Given the description of an element on the screen output the (x, y) to click on. 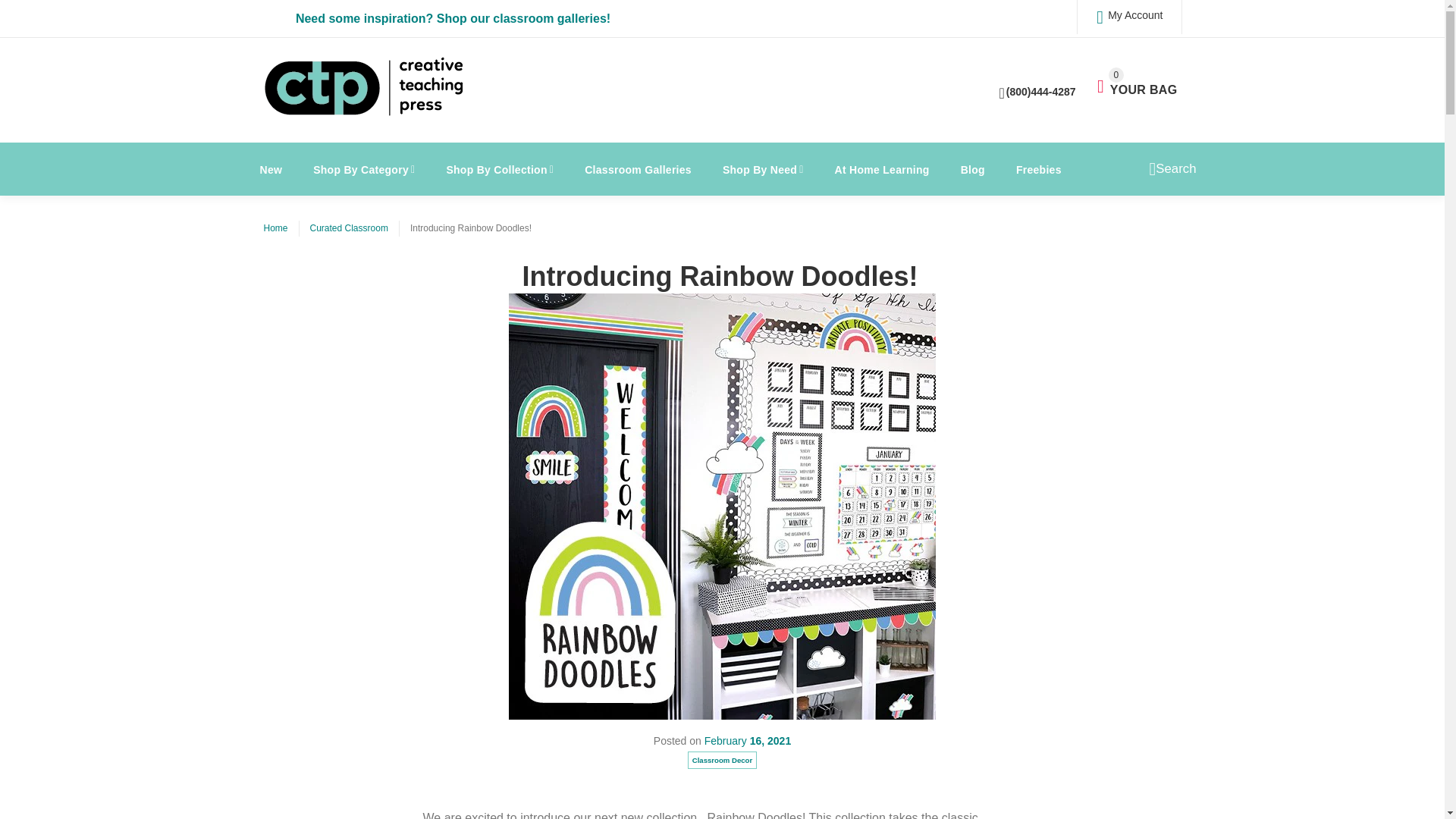
Need some inspiration? Shop our classroom galleries! (1136, 82)
Shop By Category (453, 18)
My Account (364, 168)
New (1128, 17)
